Given the description of an element on the screen output the (x, y) to click on. 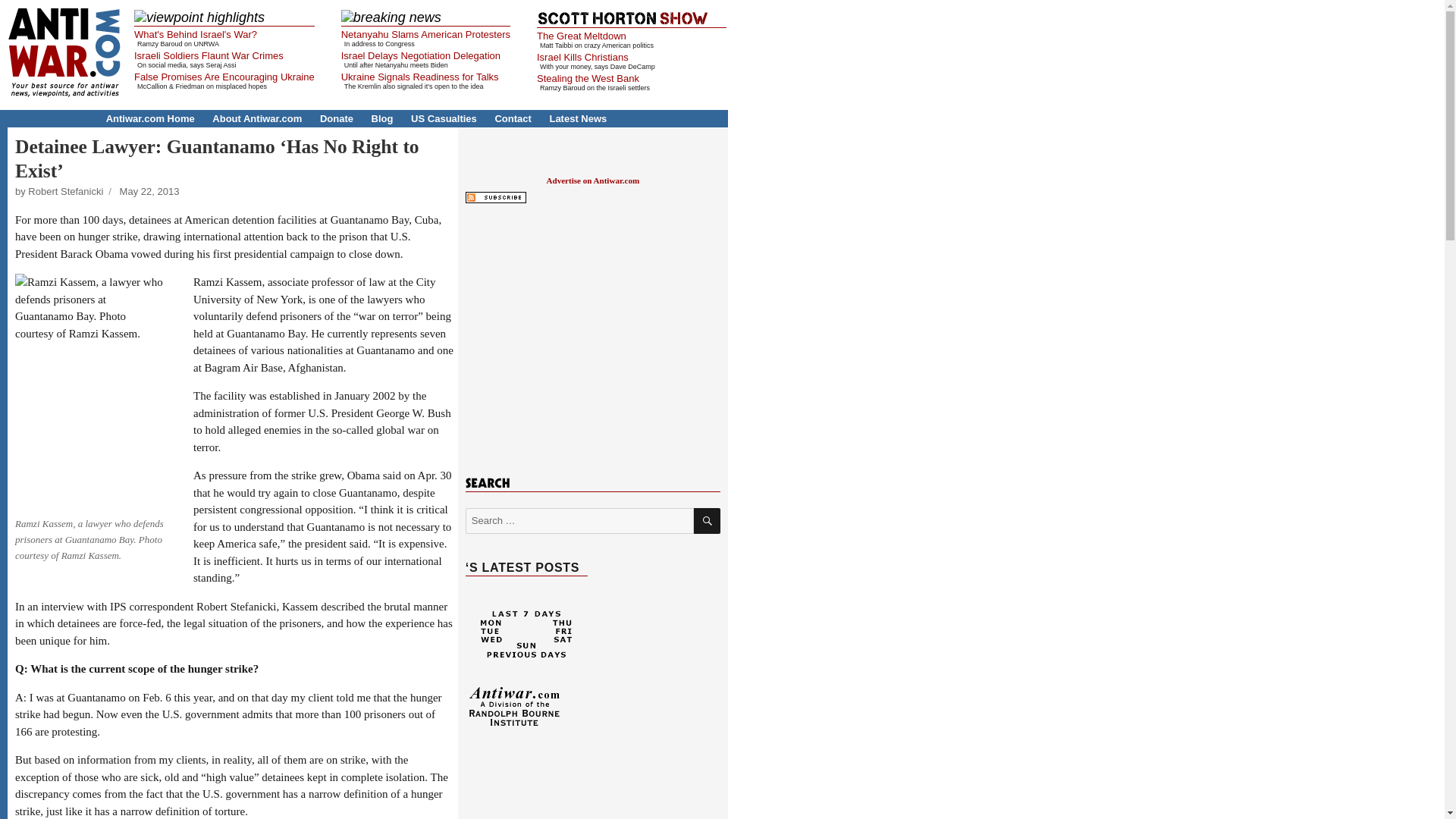
Posts by Robert Stefanicki (65, 191)
The Great Meltdown (581, 35)
Donate (336, 118)
Ukraine Signals Readiness for Talks (419, 76)
Israeli Soldiers Flaunt War Crimes (208, 55)
Contact (513, 118)
Netanyahu Slams American Protesters (425, 34)
Antiwar.com Home (150, 118)
US Casualties (443, 118)
Latest News (577, 118)
May 22, 2013 (149, 191)
What's Behind Israel's War? (195, 34)
False Promises Are Encouraging Ukraine (223, 76)
Israel Kills Christians (582, 57)
Robert Stefanicki (65, 191)
